Given the description of an element on the screen output the (x, y) to click on. 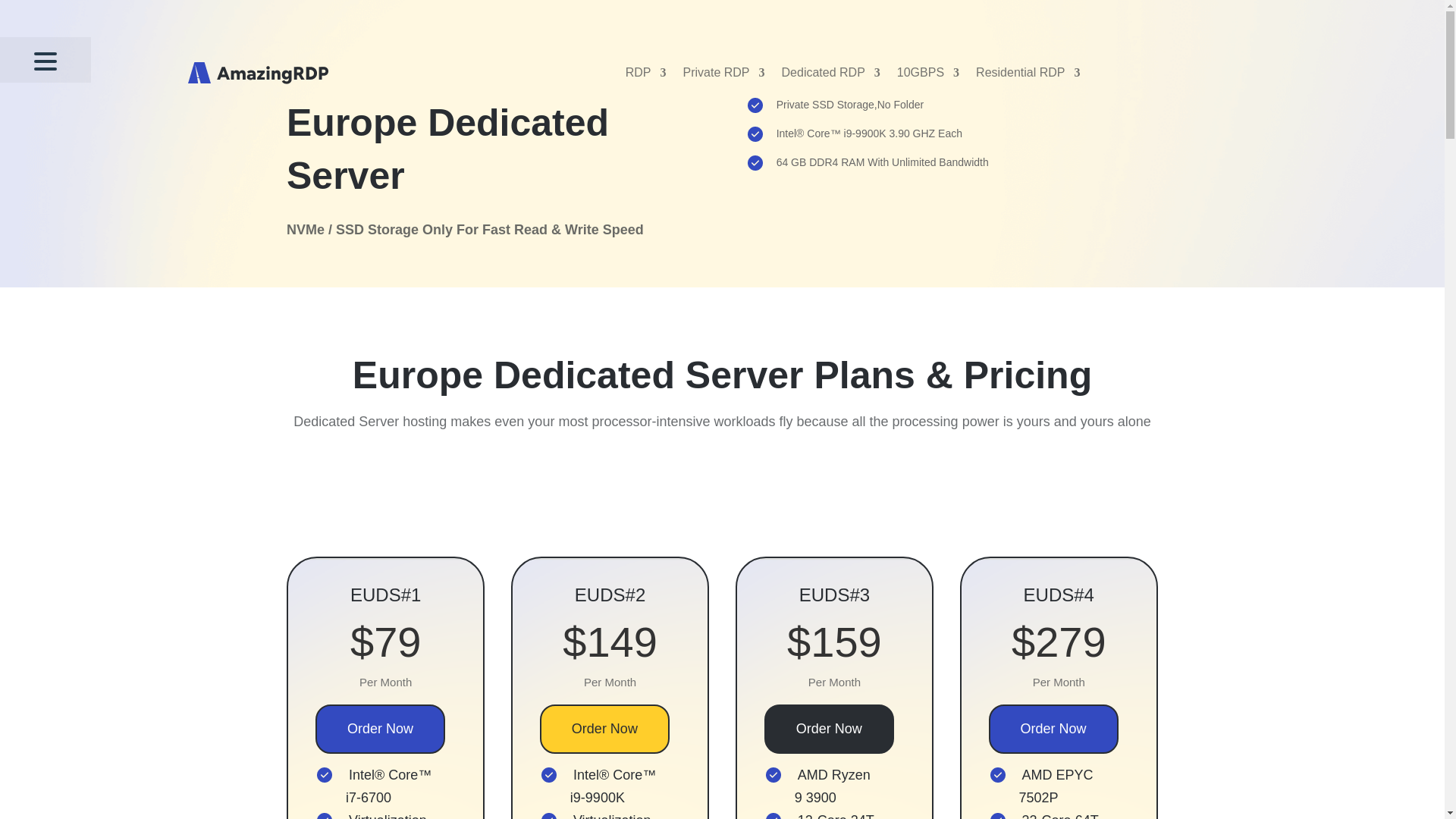
RDP (646, 72)
Private RDP (723, 72)
Dedicated RDP (830, 72)
10GBPS (927, 72)
